Given the description of an element on the screen output the (x, y) to click on. 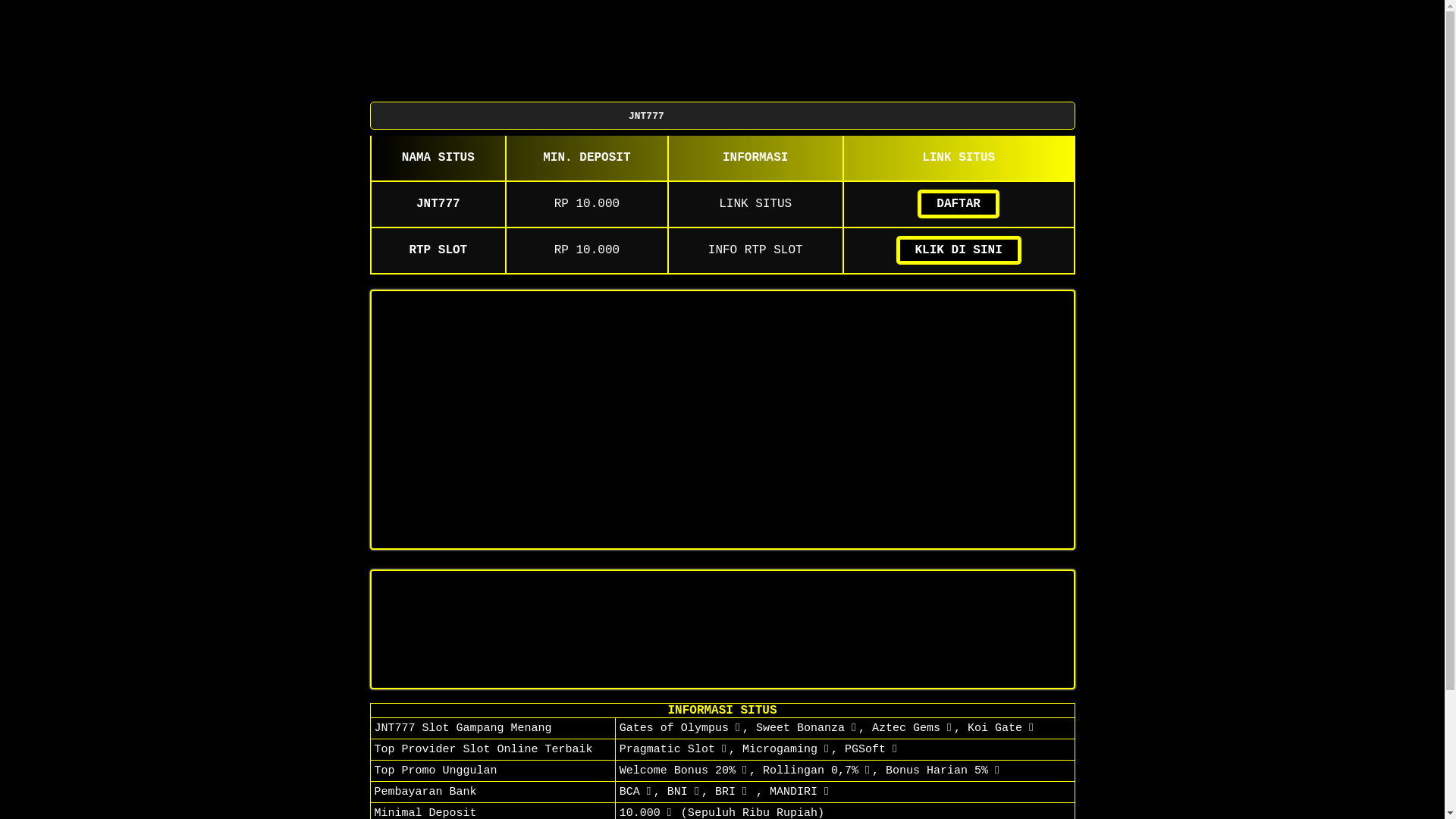
DAFTAR Element type: text (958, 203)
Situs JNT777 2023 Terpercaya Element type: hover (722, 629)
KLIK DI SINI Element type: text (958, 249)
Daftar JNT777 2023 Element type: hover (722, 420)
